Given the description of an element on the screen output the (x, y) to click on. 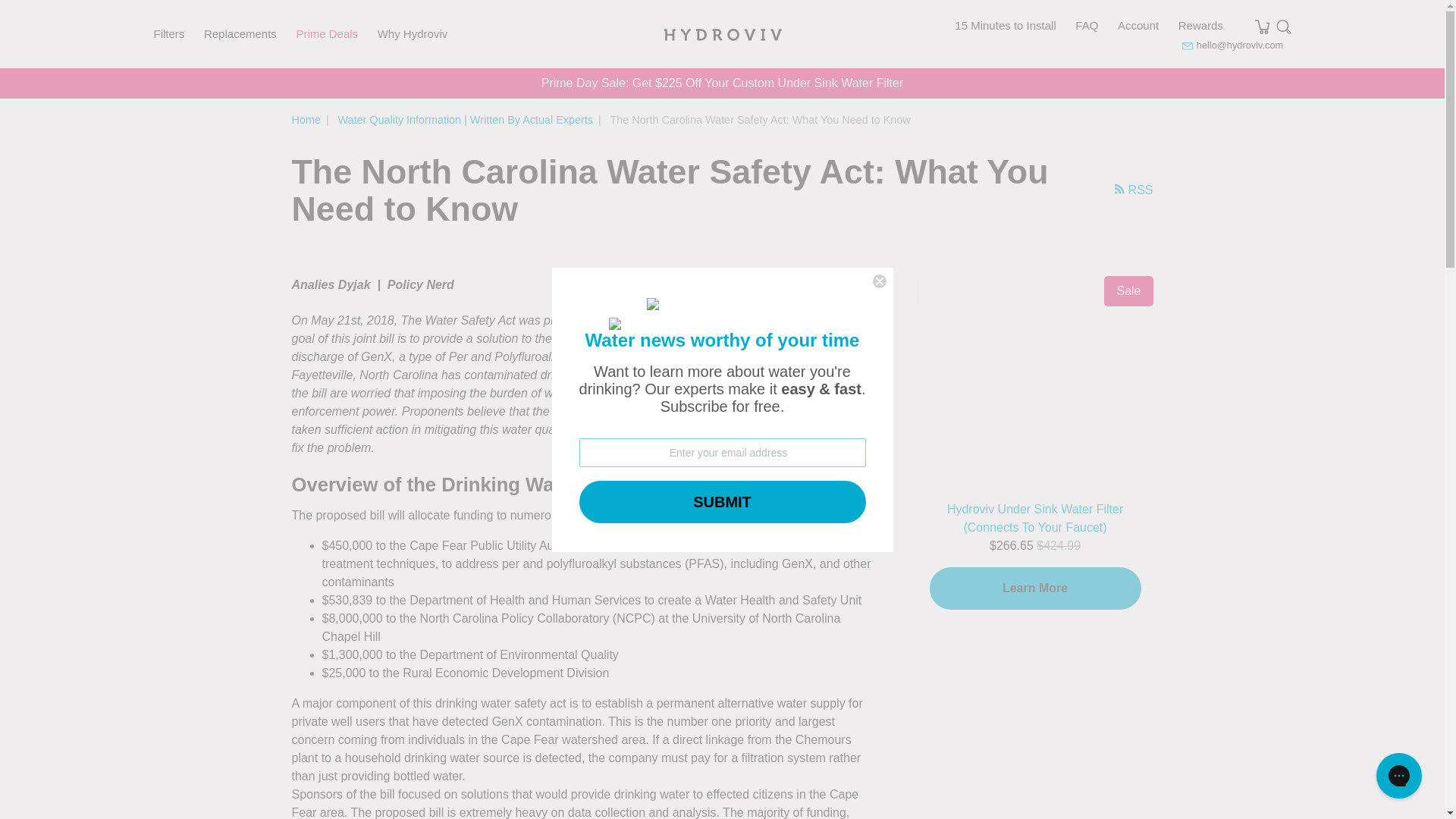
Close dialog 1 (879, 280)
Prime Deals (326, 33)
Why Hydroviv (412, 33)
Rewards (1200, 24)
FAQ (1086, 24)
Home (305, 119)
Replacements (239, 33)
RSS (1114, 189)
Filters (168, 33)
Home (305, 119)
Gorgias live chat messenger (1398, 775)
Account (1138, 24)
15 Minutes to Install (1005, 24)
Sale (1035, 382)
